Given the description of an element on the screen output the (x, y) to click on. 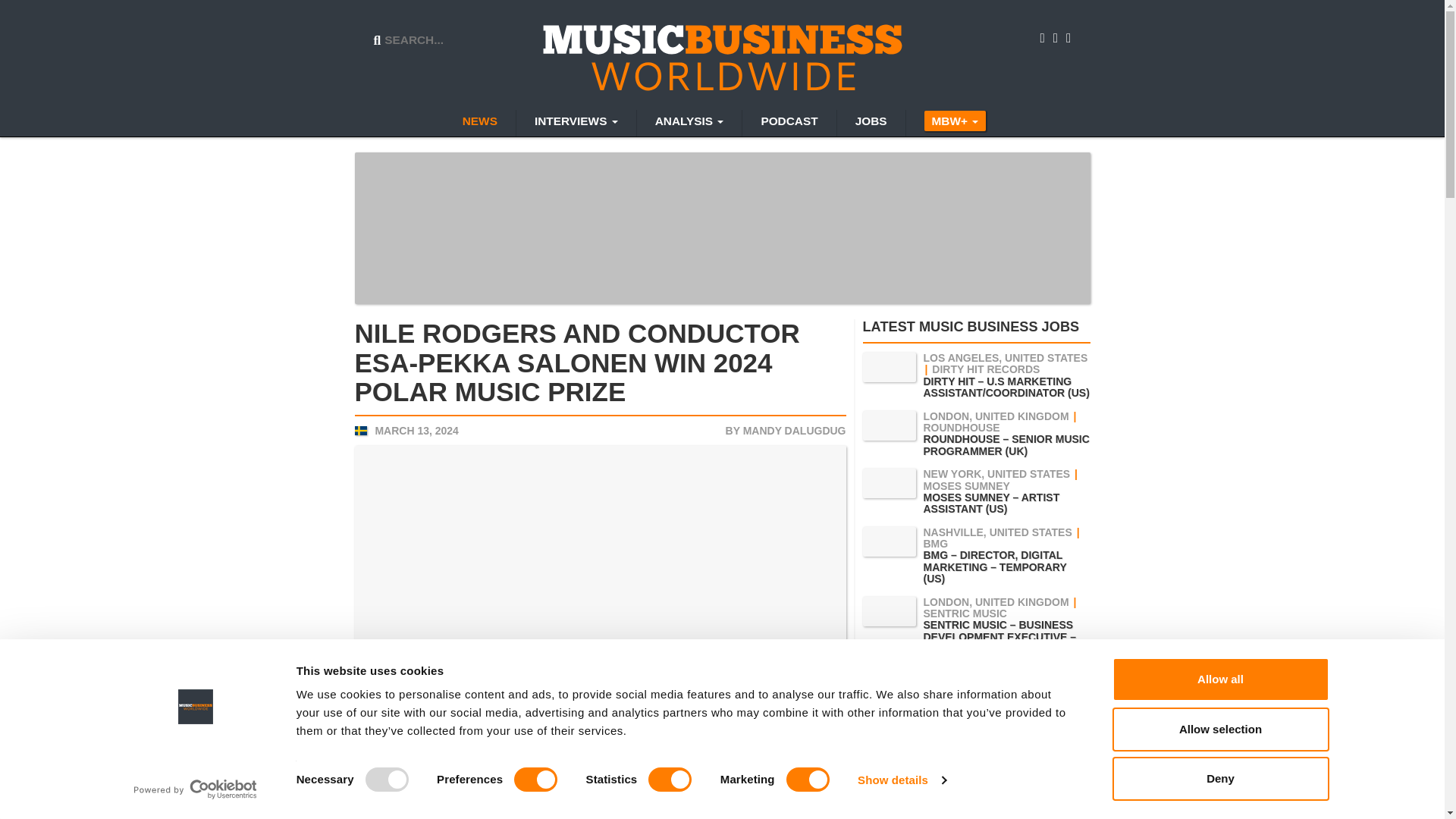
Show details (900, 780)
